Given the description of an element on the screen output the (x, y) to click on. 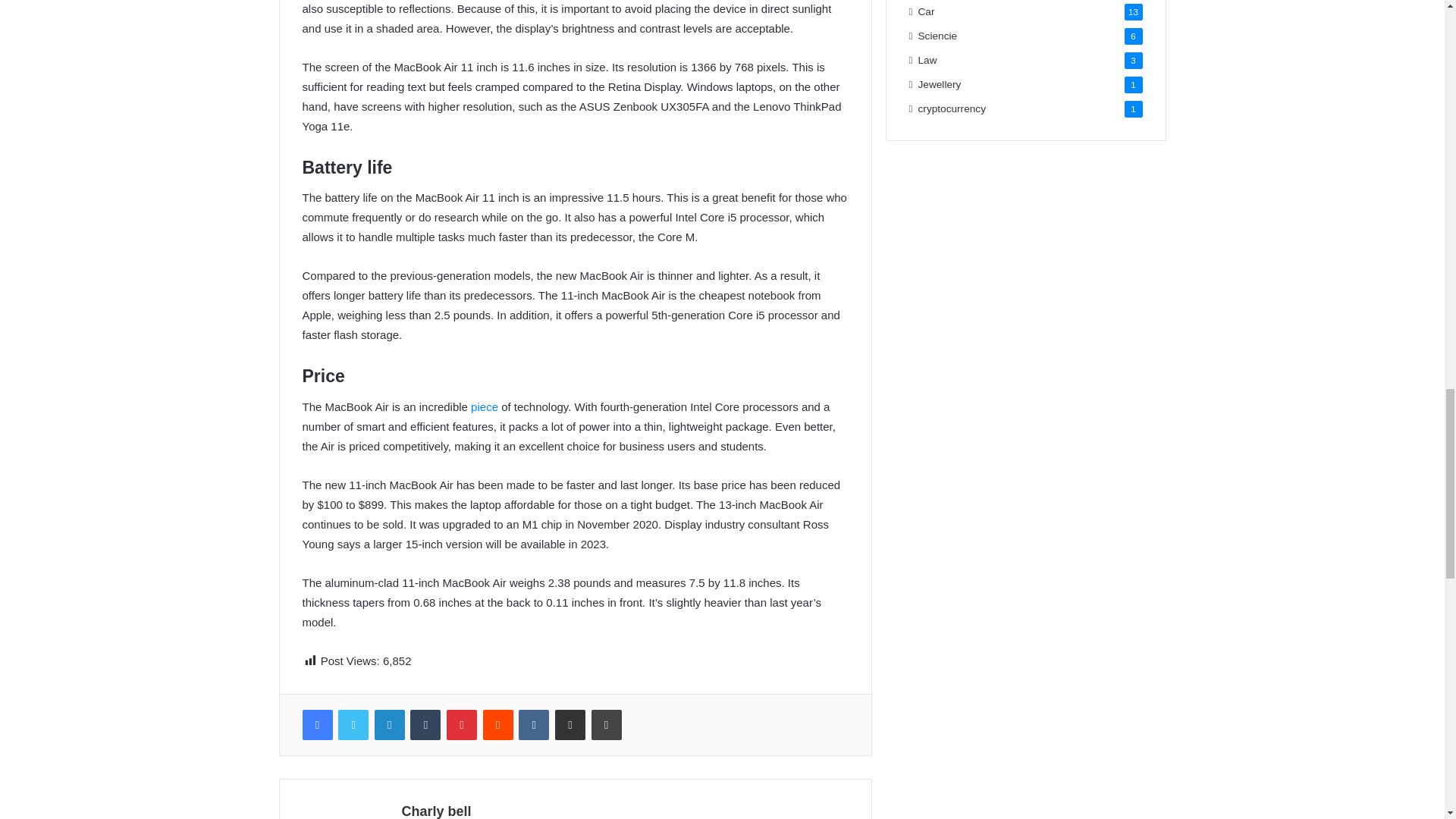
Tumblr (425, 725)
LinkedIn (389, 725)
piece (485, 406)
LinkedIn (389, 725)
Print (606, 725)
Twitter (352, 725)
VKontakte (533, 725)
Reddit (498, 725)
VKontakte (533, 725)
Pinterest (461, 725)
Facebook (316, 725)
Tumblr (425, 725)
Pinterest (461, 725)
Print (606, 725)
Twitter (352, 725)
